Given the description of an element on the screen output the (x, y) to click on. 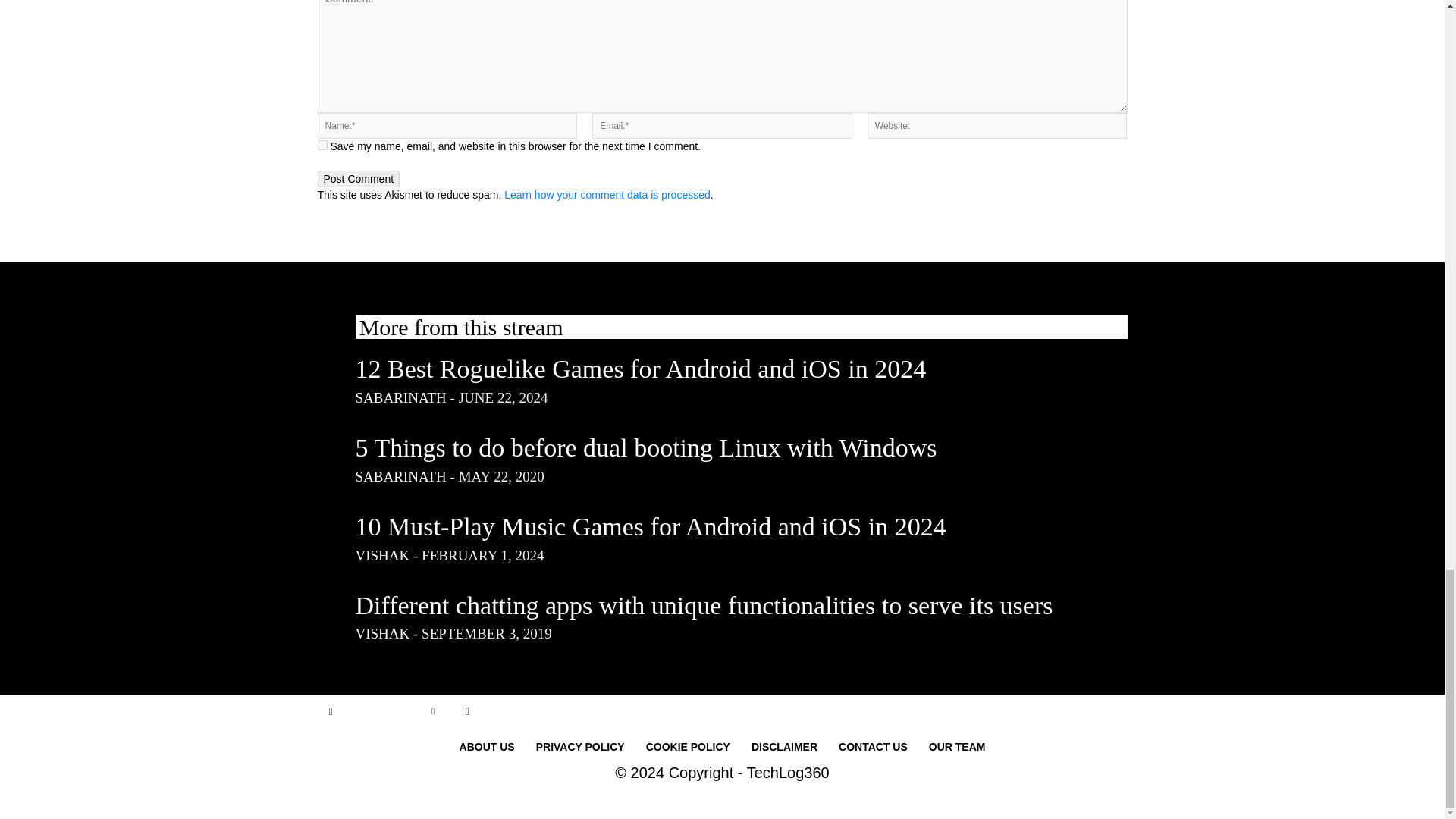
Post Comment (357, 178)
yes (321, 144)
